Given the description of an element on the screen output the (x, y) to click on. 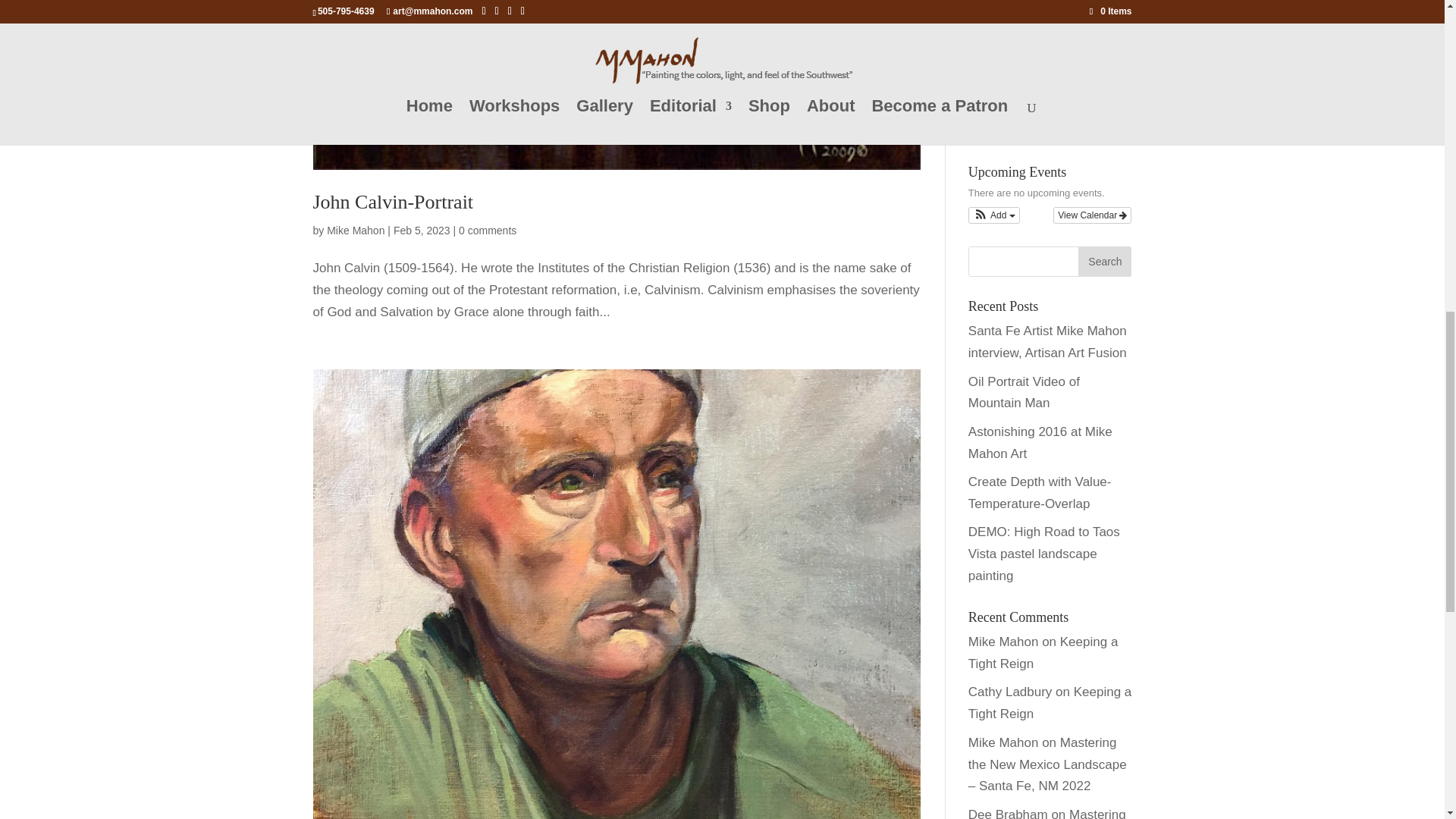
Search (1104, 261)
Mike Mahon (355, 230)
John Calvin-Portrait (393, 201)
Posts by Mike Mahon (355, 230)
0 comments (487, 230)
